Given the description of an element on the screen output the (x, y) to click on. 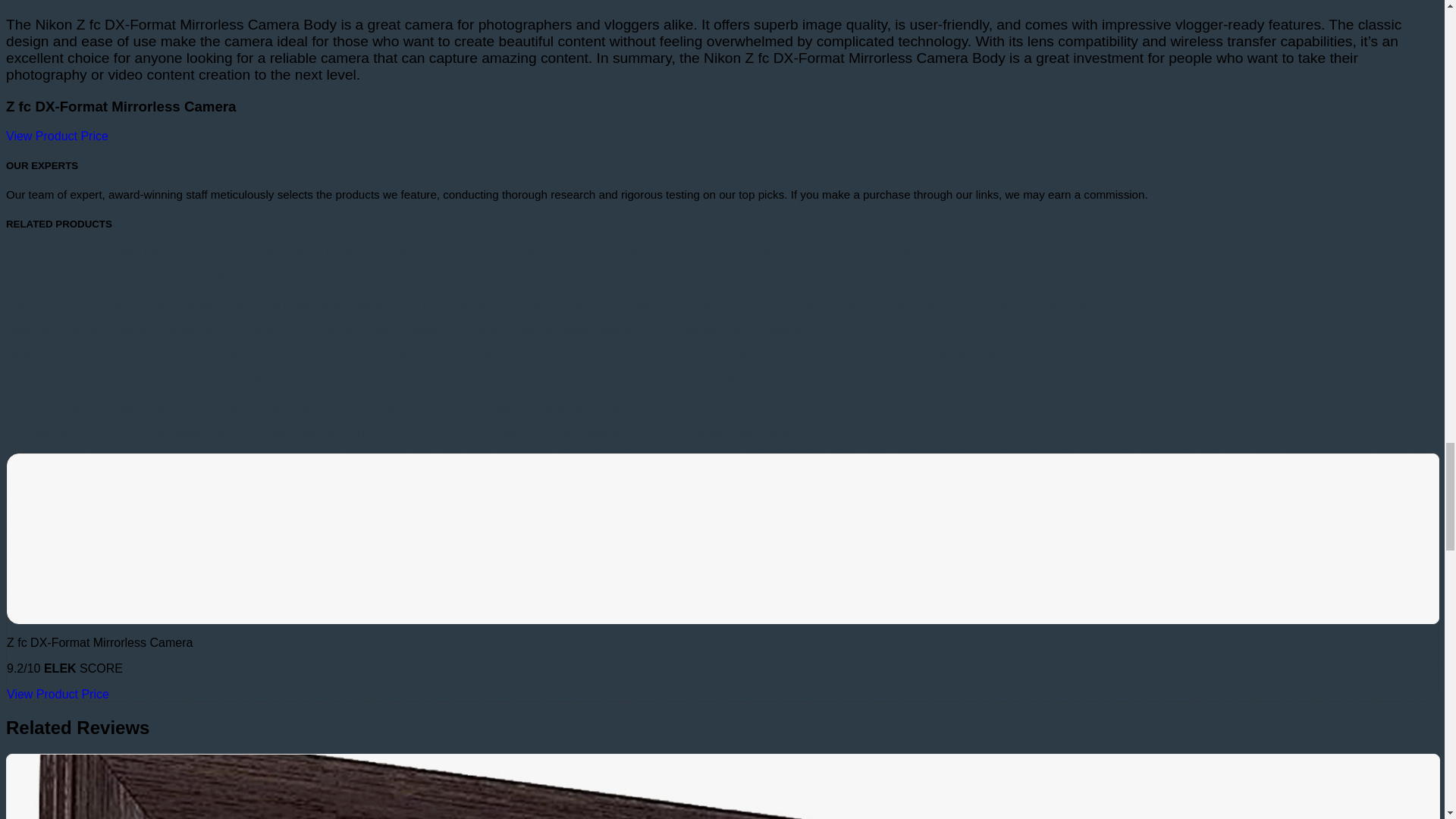
View Product Price (56, 135)
View Product Price (58, 694)
